Given the description of an element on the screen output the (x, y) to click on. 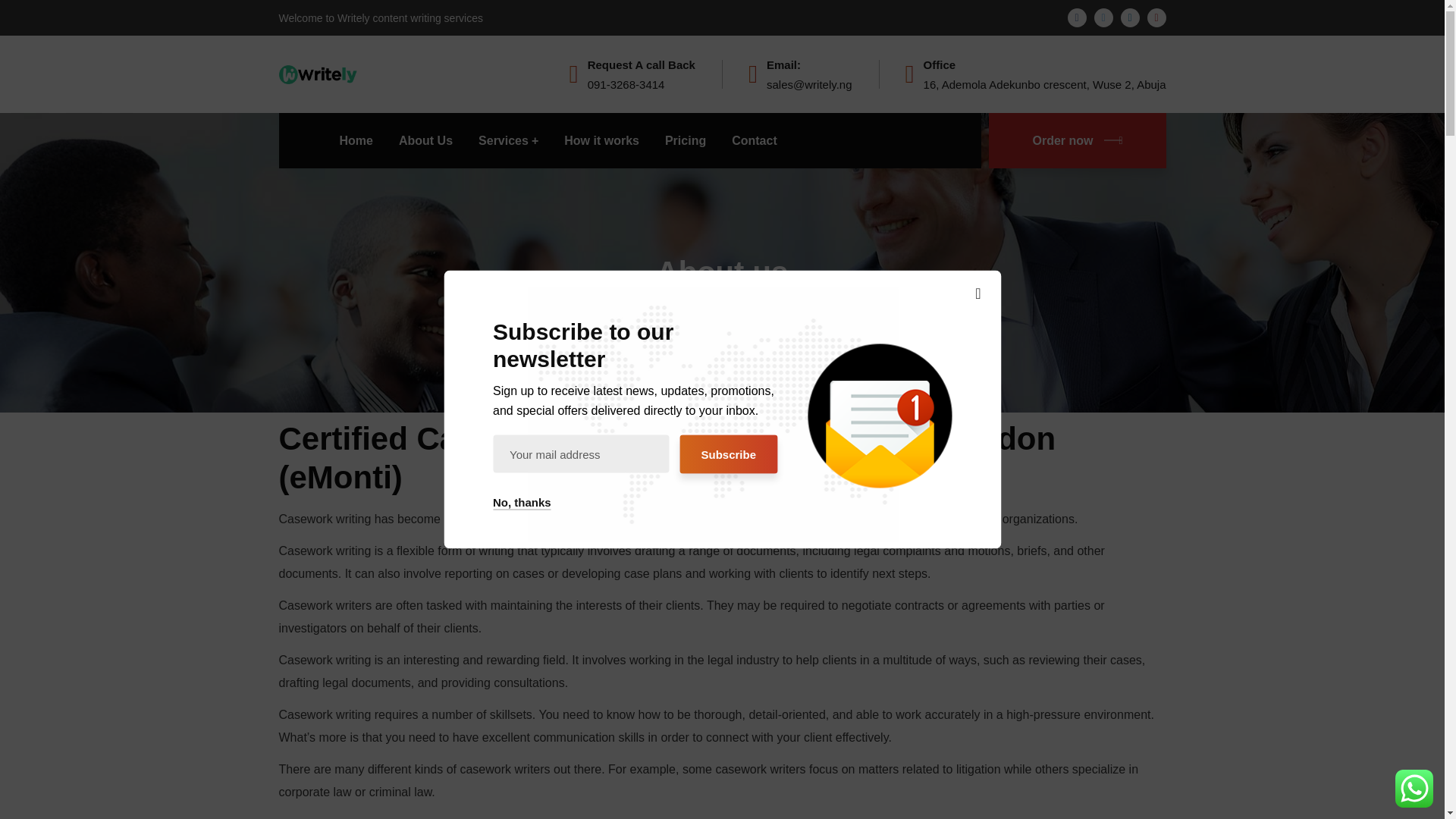
About Us (425, 140)
Services (508, 140)
Subscribe (728, 454)
Writely (318, 73)
Home (355, 140)
